Given the description of an element on the screen output the (x, y) to click on. 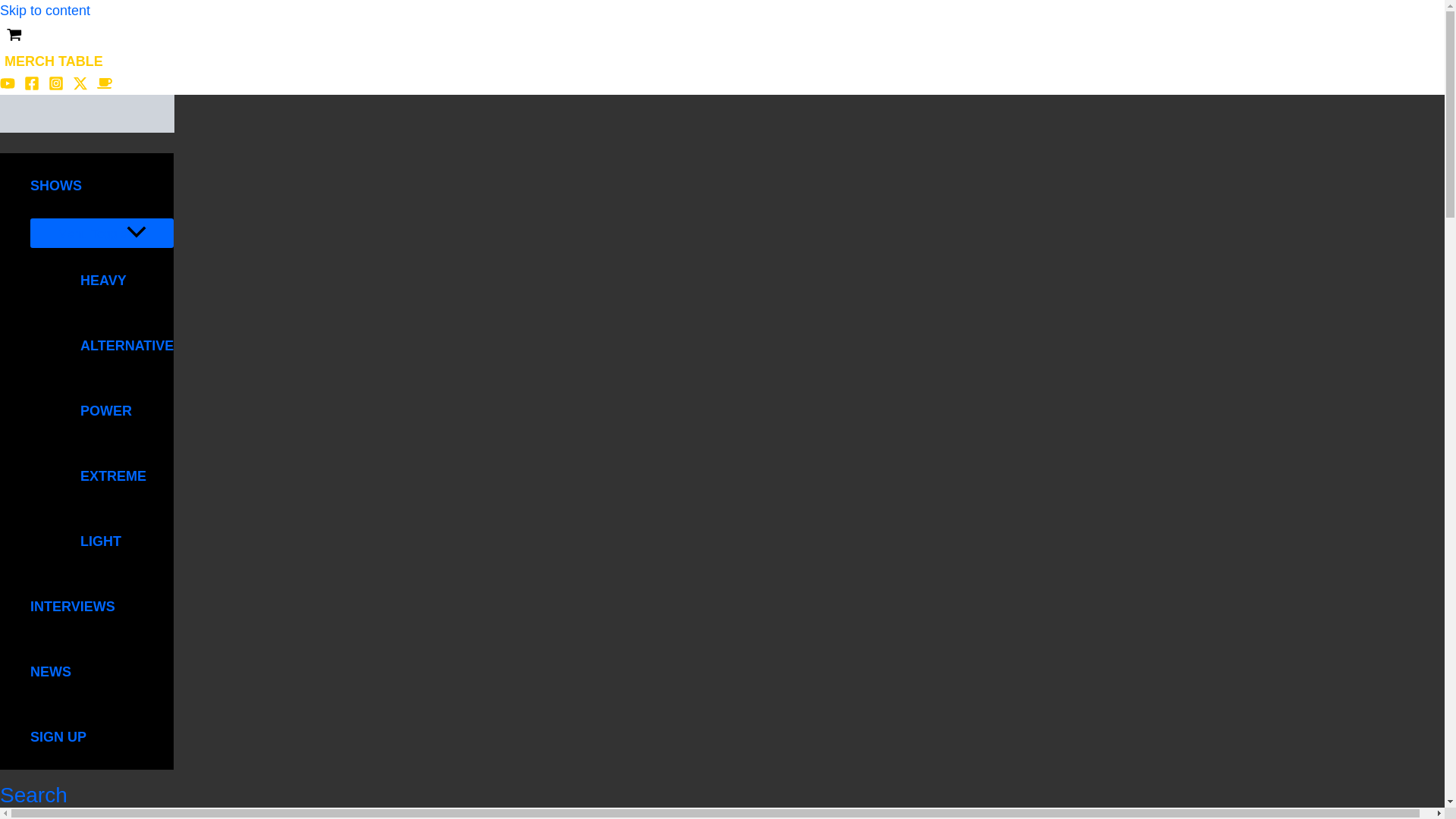
Menu Toggle (101, 233)
HEAVY (117, 280)
NEWS (101, 671)
INTERVIEWS (101, 606)
SHOWS (101, 185)
LIGHT (117, 541)
MERCH TABLE (53, 60)
EXTREME (117, 475)
ALTERNATIVE (117, 345)
Skip to content (45, 10)
Skip to content (45, 10)
Search (33, 794)
POWER (117, 410)
SIGN UP (101, 736)
